Given the description of an element on the screen output the (x, y) to click on. 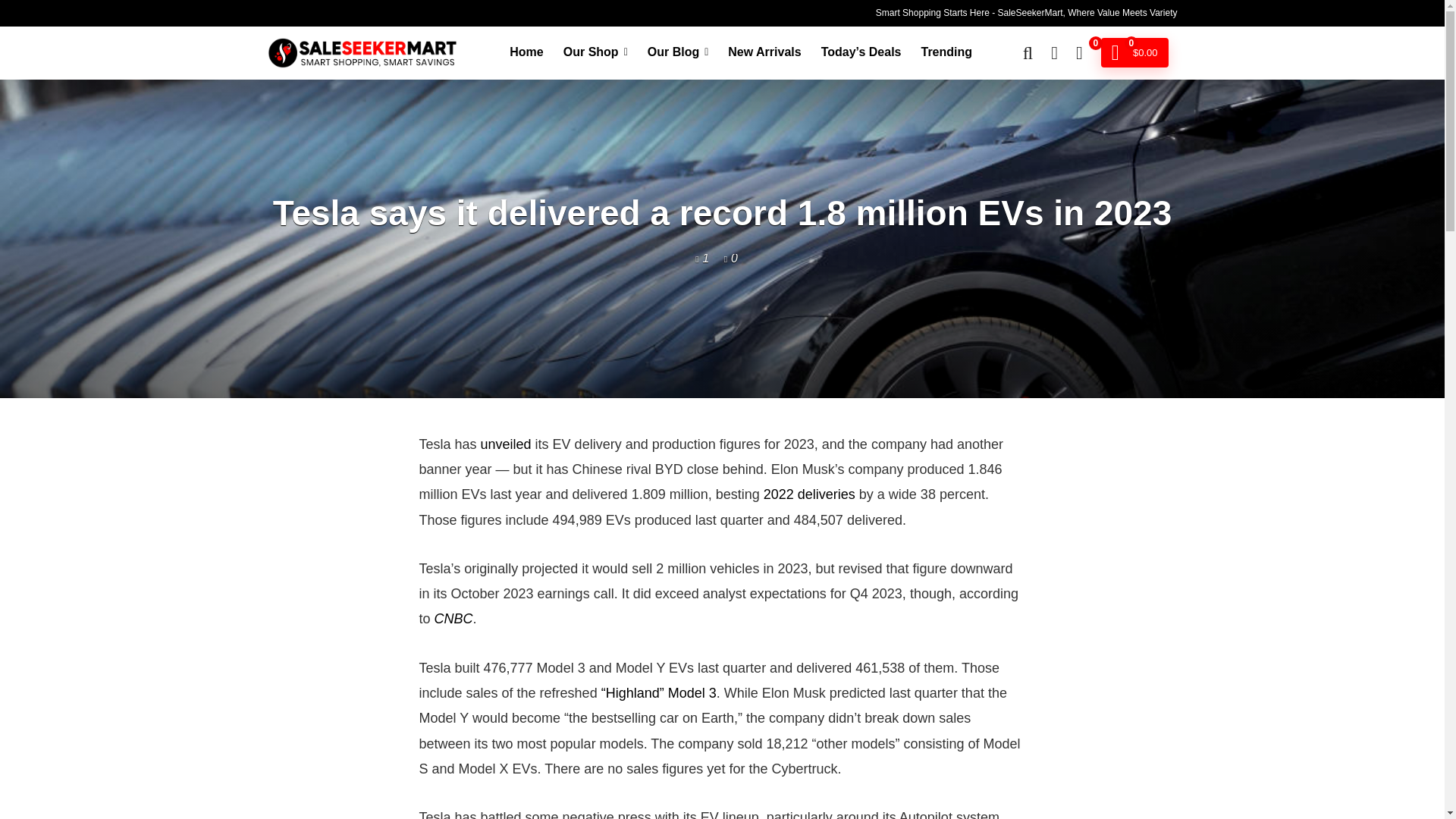
Our Shop (595, 52)
Home (526, 52)
